Given the description of an element on the screen output the (x, y) to click on. 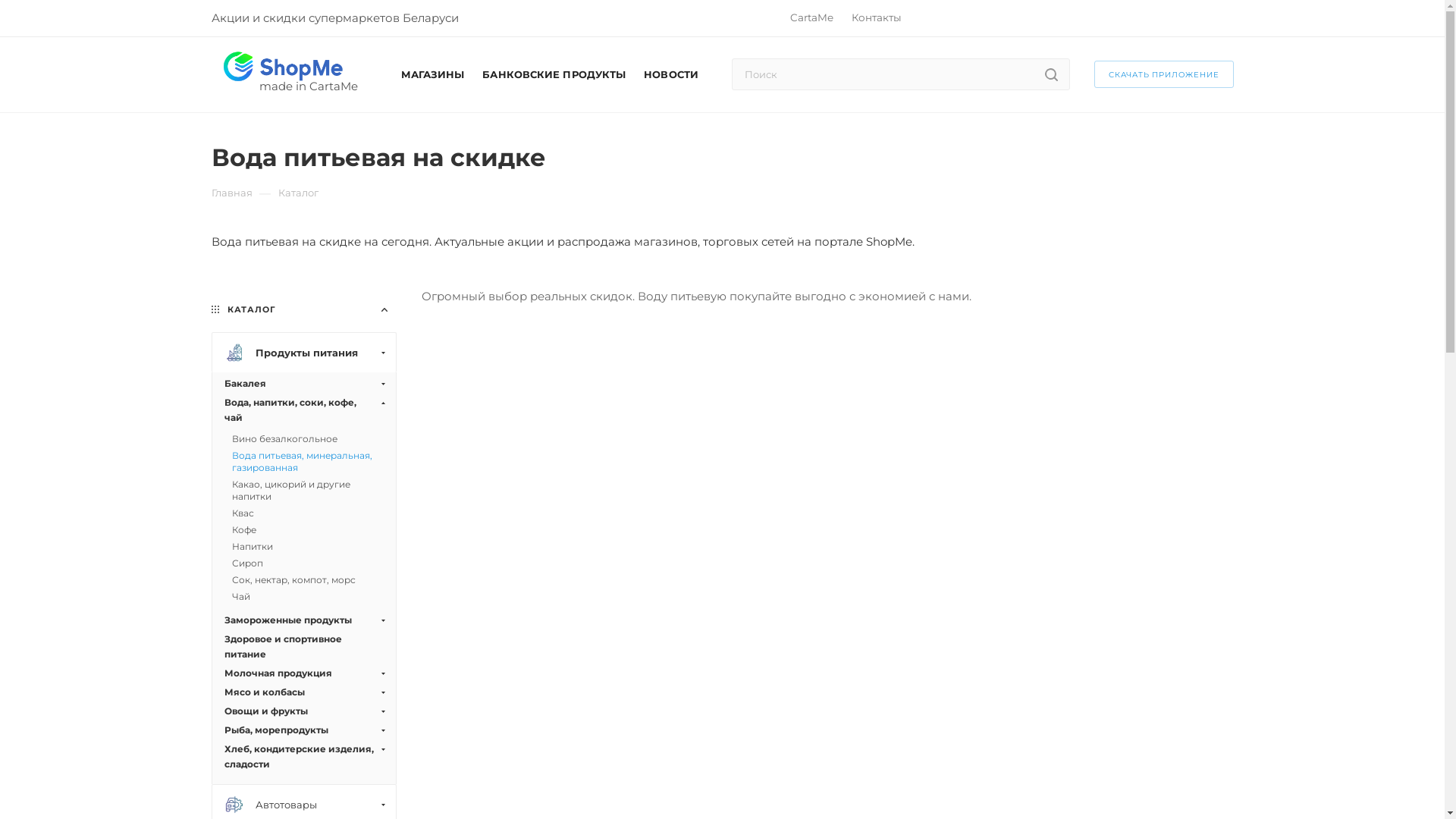
shopme.by Element type: hover (282, 66)
CartaMe Element type: text (811, 17)
